Given the description of an element on the screen output the (x, y) to click on. 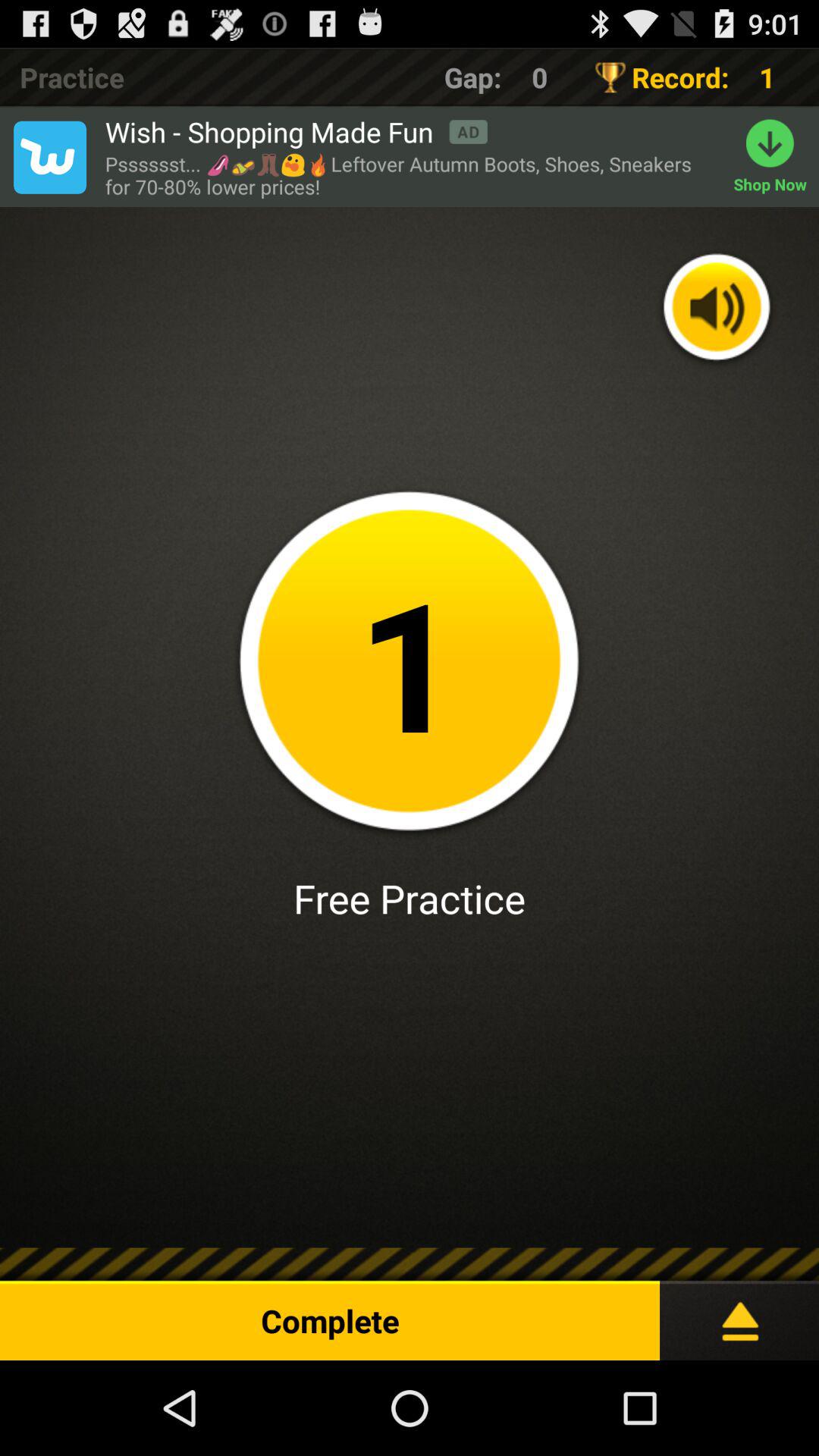
play the audio (716, 308)
